Given the description of an element on the screen output the (x, y) to click on. 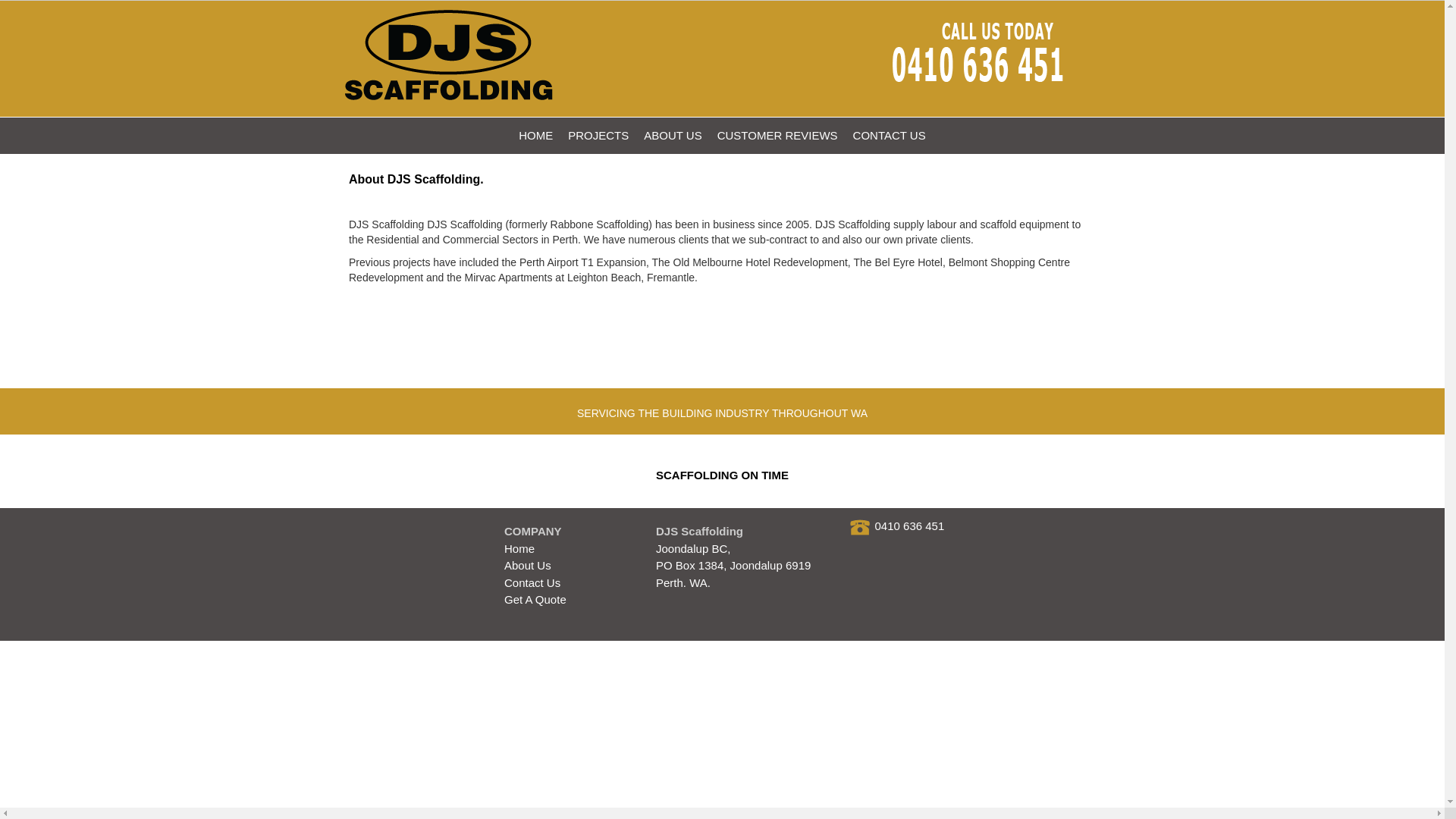
Get A Quote Element type: text (535, 599)
0410 636 451 Element type: text (909, 525)
HOME Element type: text (535, 135)
CUSTOMER REVIEWS Element type: text (777, 135)
PROJECTS Element type: text (598, 135)
ABOUT US Element type: text (672, 135)
Home Element type: text (519, 548)
CONTACT US Element type: text (889, 135)
About Us Element type: text (527, 564)
Contact Us Element type: text (532, 582)
